Given the description of an element on the screen output the (x, y) to click on. 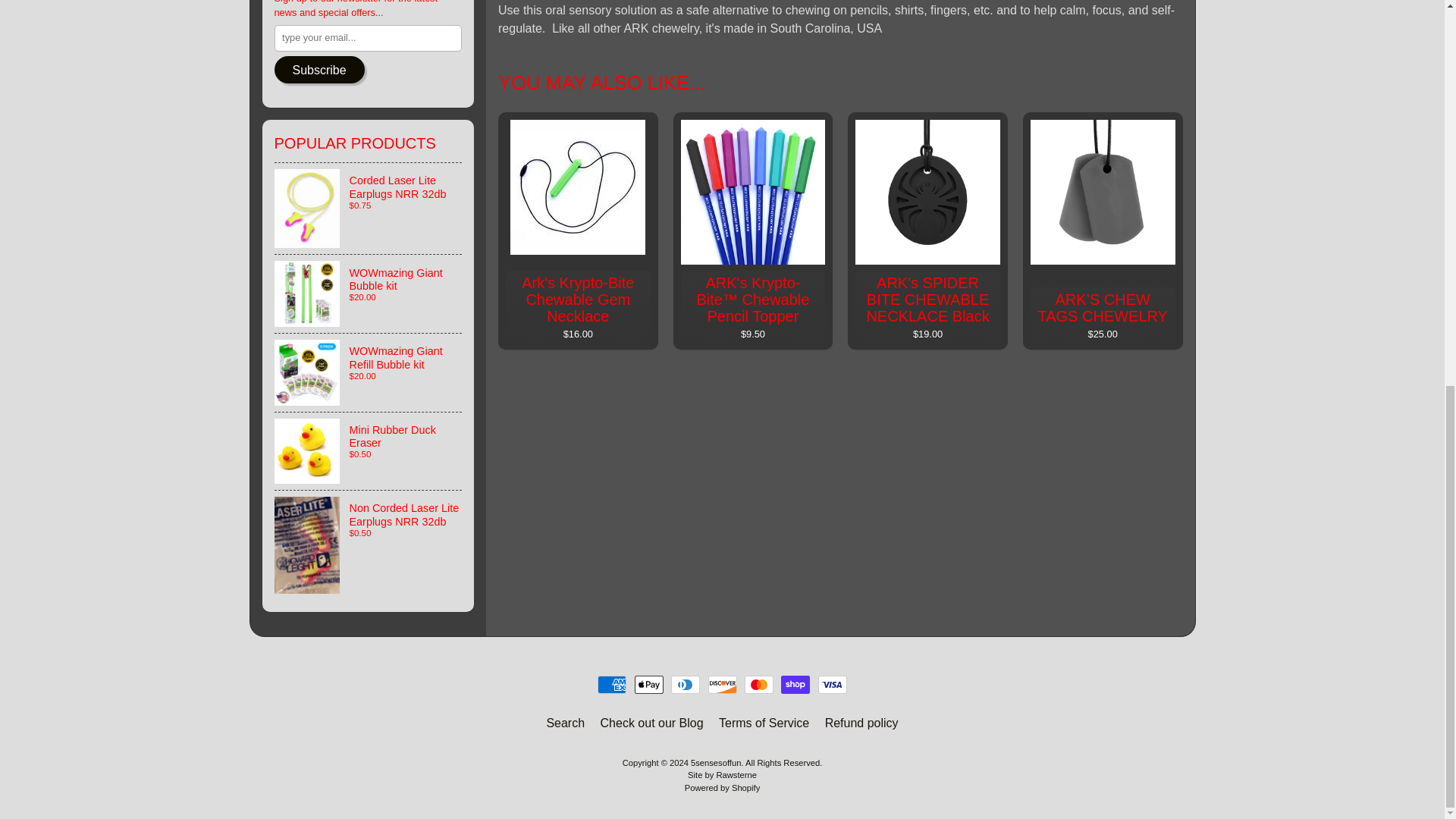
Mini Rubber Duck Eraser (369, 451)
WOWmazing Giant Bubble kit (369, 293)
Non Corded Laser Lite Earplugs NRR 32db (369, 544)
WOWmazing Giant Refill Bubble kit (369, 372)
Corded Laser Lite Earplugs NRR 32db (369, 207)
